Given the description of an element on the screen output the (x, y) to click on. 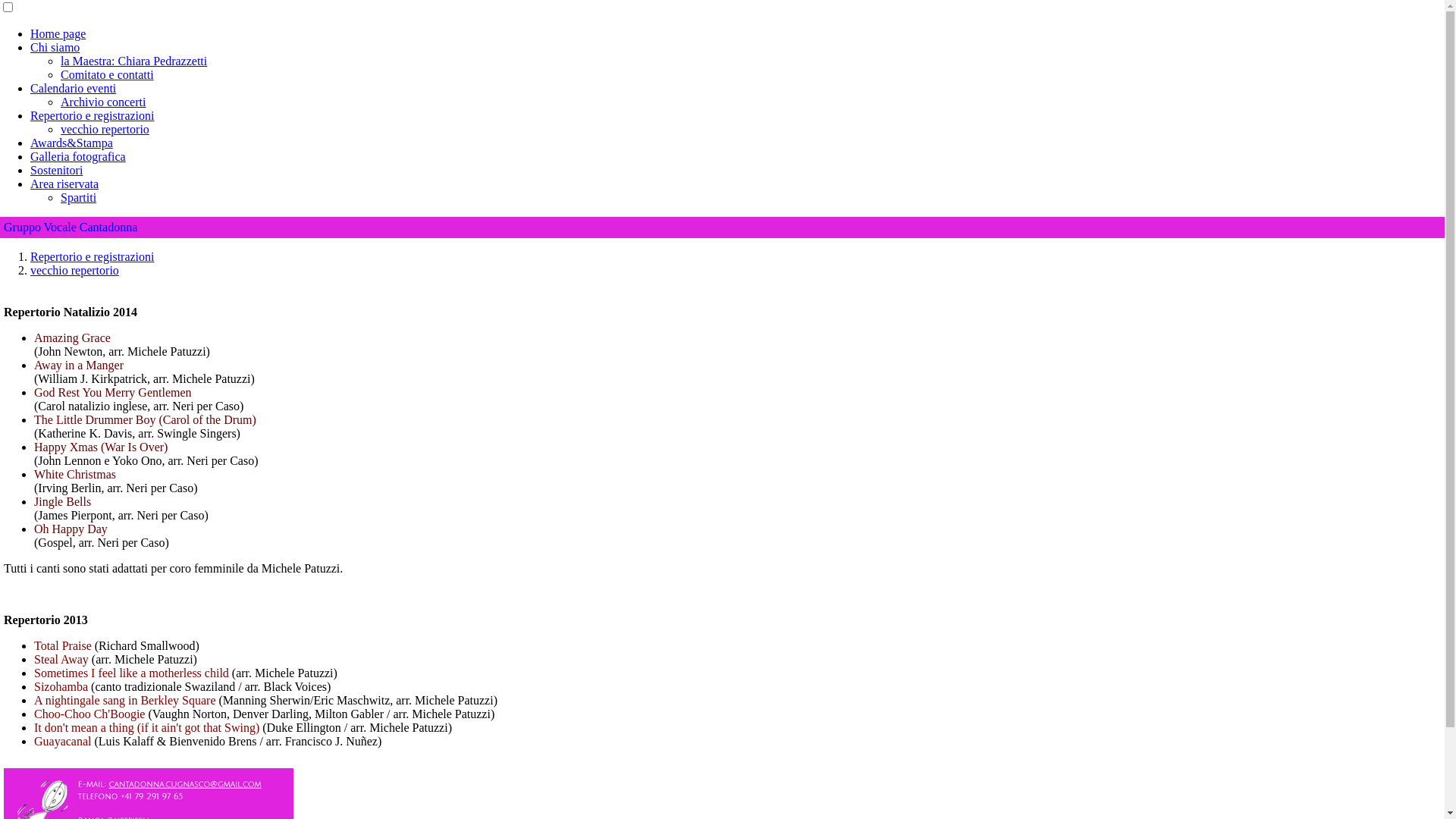
Repertorio e registrazioni Element type: text (92, 256)
Area riservata Element type: text (64, 183)
vecchio repertorio Element type: text (74, 269)
Spartiti Element type: text (78, 197)
Comitato e contatti Element type: text (106, 74)
Archivio concerti Element type: text (102, 101)
Home page Element type: text (57, 33)
Galleria fotografica Element type: text (77, 156)
Gruppo Vocale Cantadonna Element type: text (721, 227)
Calendario eventi Element type: text (73, 87)
Chi siamo Element type: text (54, 46)
Awards&Stampa Element type: text (71, 142)
Sostenitori Element type: text (56, 169)
Repertorio e registrazioni Element type: text (92, 115)
vecchio repertorio Element type: text (104, 128)
la Maestra: Chiara Pedrazzetti Element type: text (133, 60)
